Given the description of an element on the screen output the (x, y) to click on. 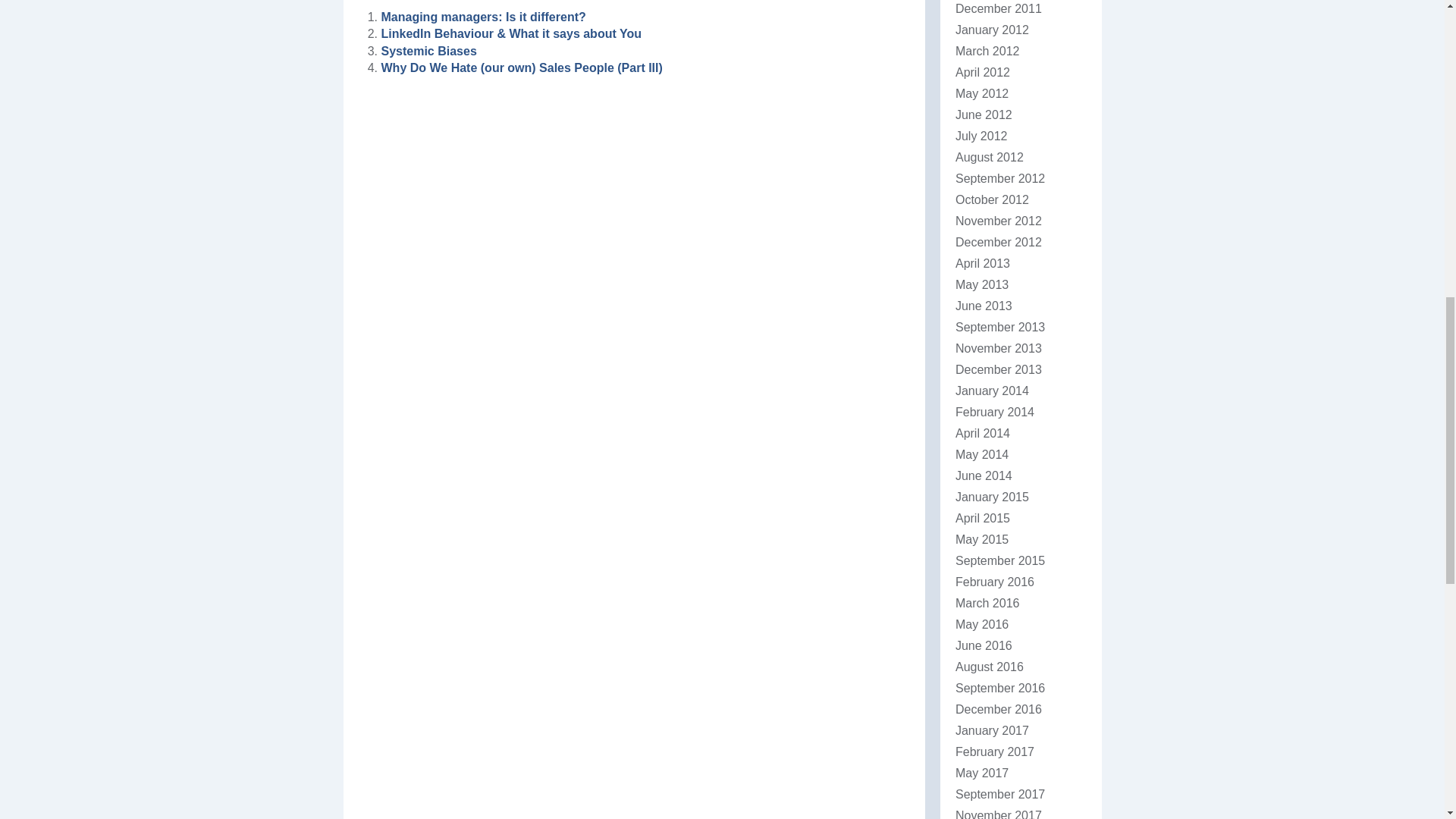
Systemic Biases (428, 51)
Systemic Biases (428, 51)
Managing managers: Is it different? (482, 16)
Managing managers: Is it different? (482, 16)
